Given the description of an element on the screen output the (x, y) to click on. 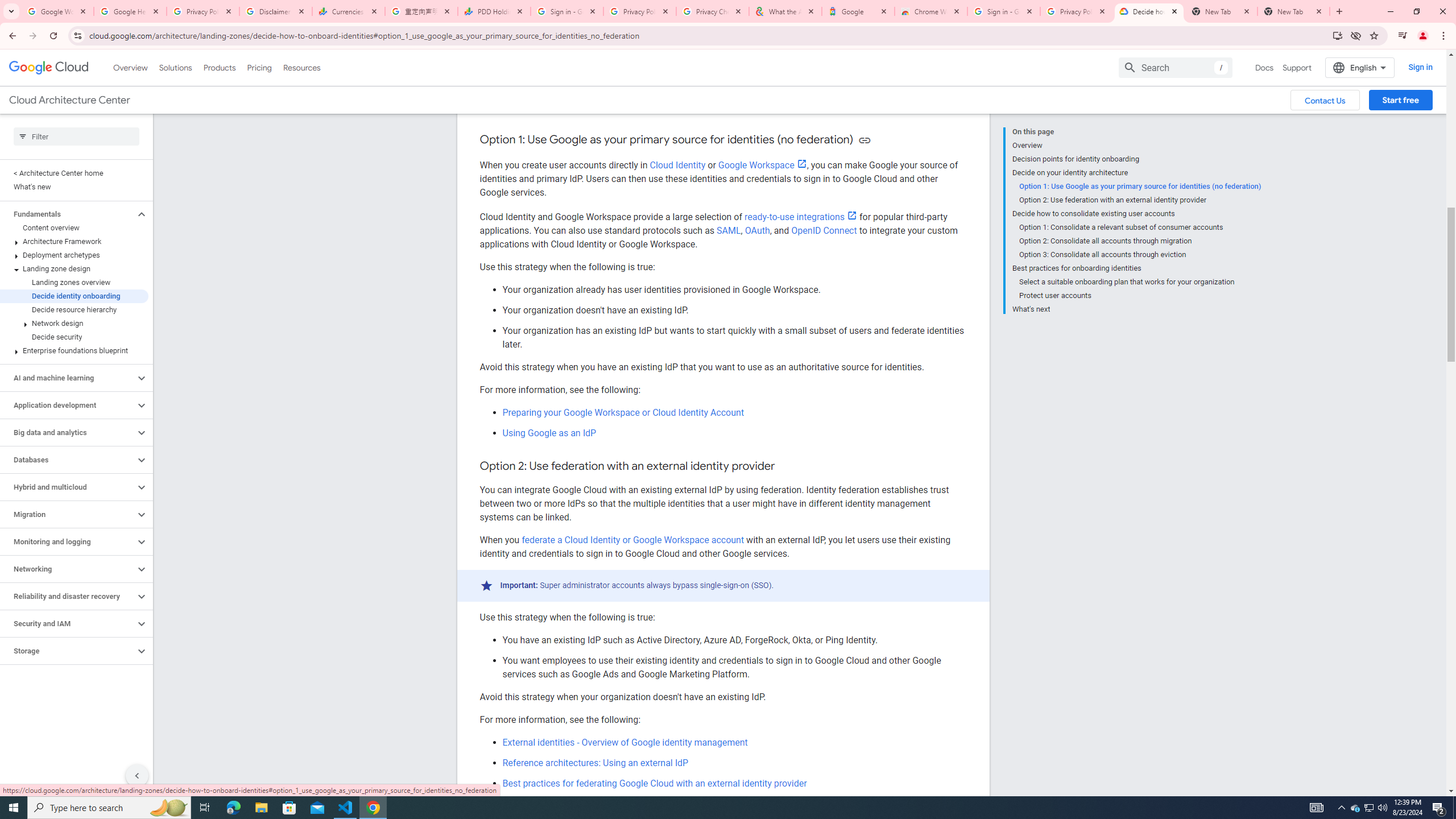
Decide on your identity architecture (1135, 172)
Contact Us (1324, 100)
Network design (74, 323)
Decide security (74, 336)
Type to filter (76, 136)
SAML (728, 230)
